Given the description of an element on the screen output the (x, y) to click on. 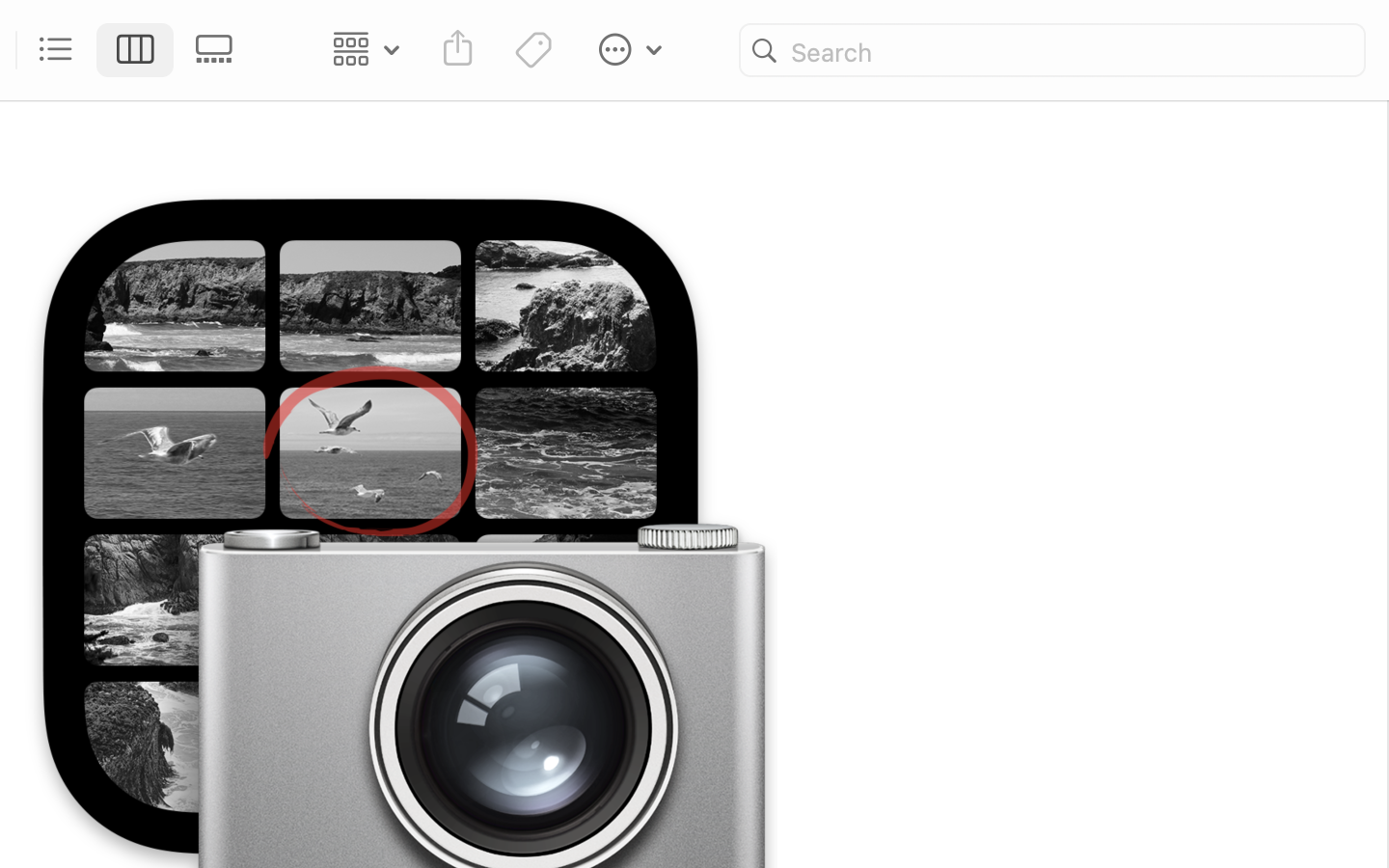
1 Element type: AXRadioButton (135, 49)
0 Element type: AXRadioButton (219, 49)
